Given the description of an element on the screen output the (x, y) to click on. 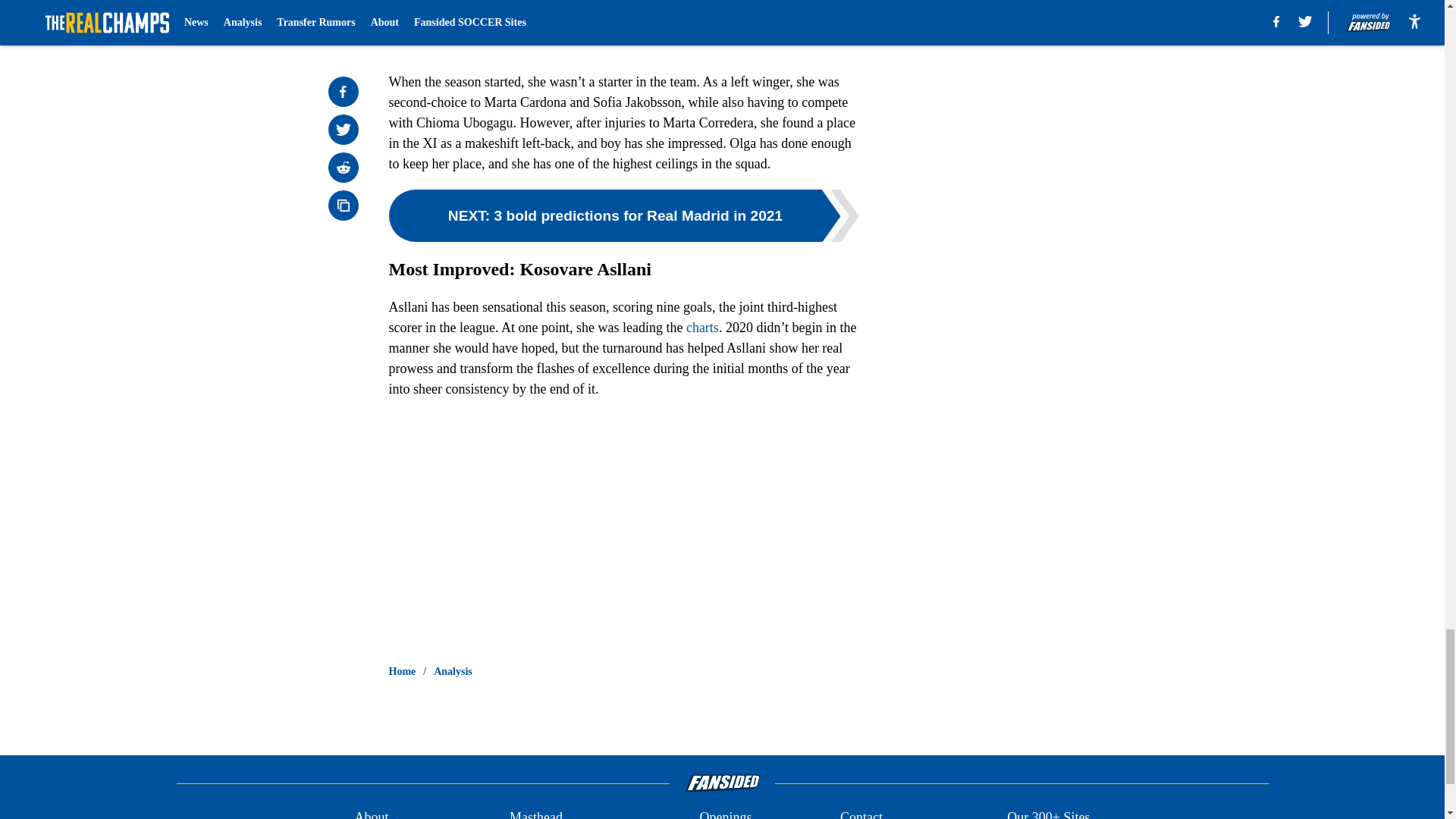
charts (702, 327)
NEXT: 3 bold predictions for Real Madrid in 2021 (623, 215)
Openings (724, 813)
About (370, 813)
Analysis (452, 671)
Masthead (535, 813)
Home (401, 671)
Contact (861, 813)
